Given the description of an element on the screen output the (x, y) to click on. 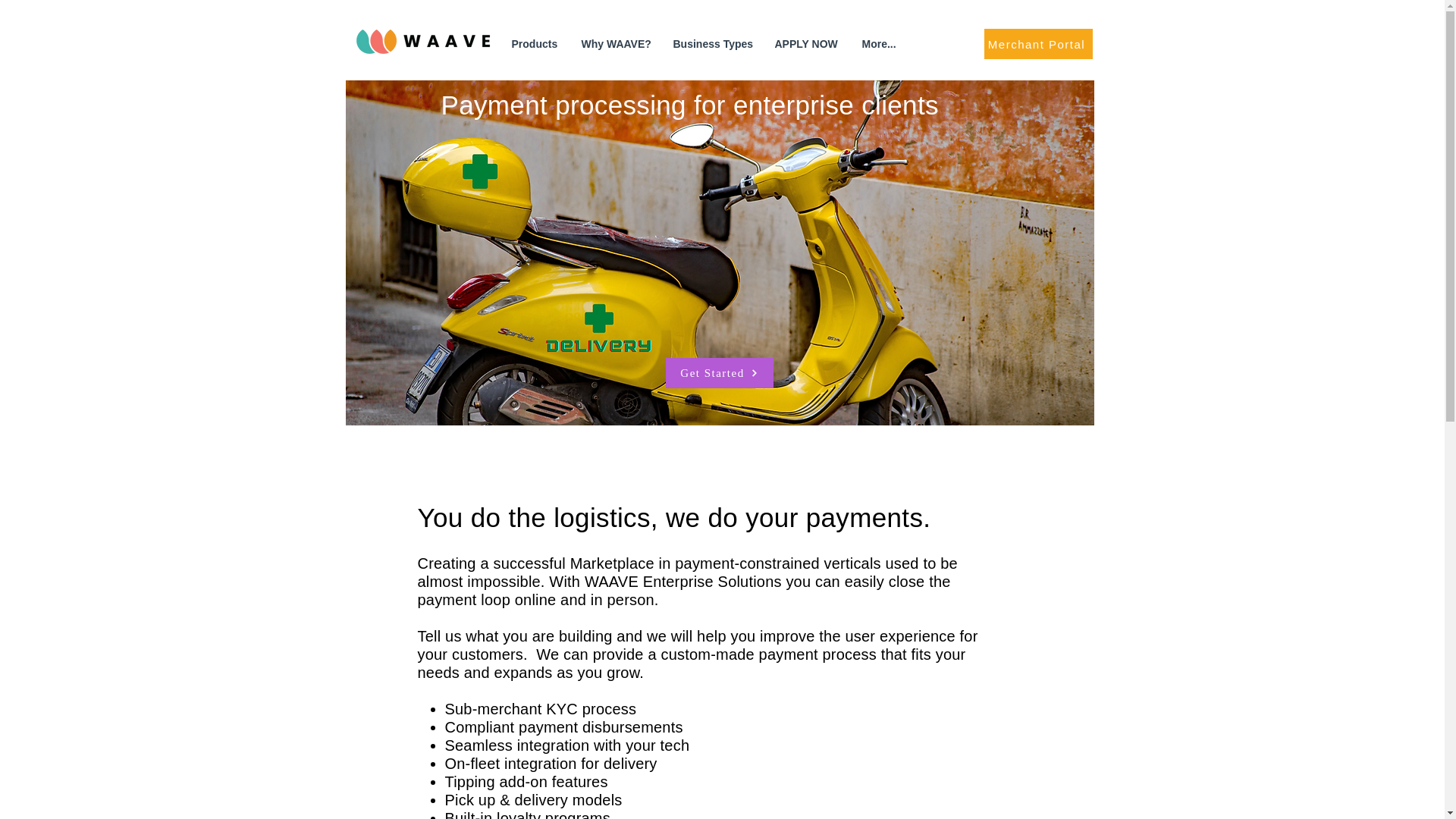
Get Started (719, 372)
Merchant Portal (1038, 43)
APPLY NOW (806, 44)
